Given the description of an element on the screen output the (x, y) to click on. 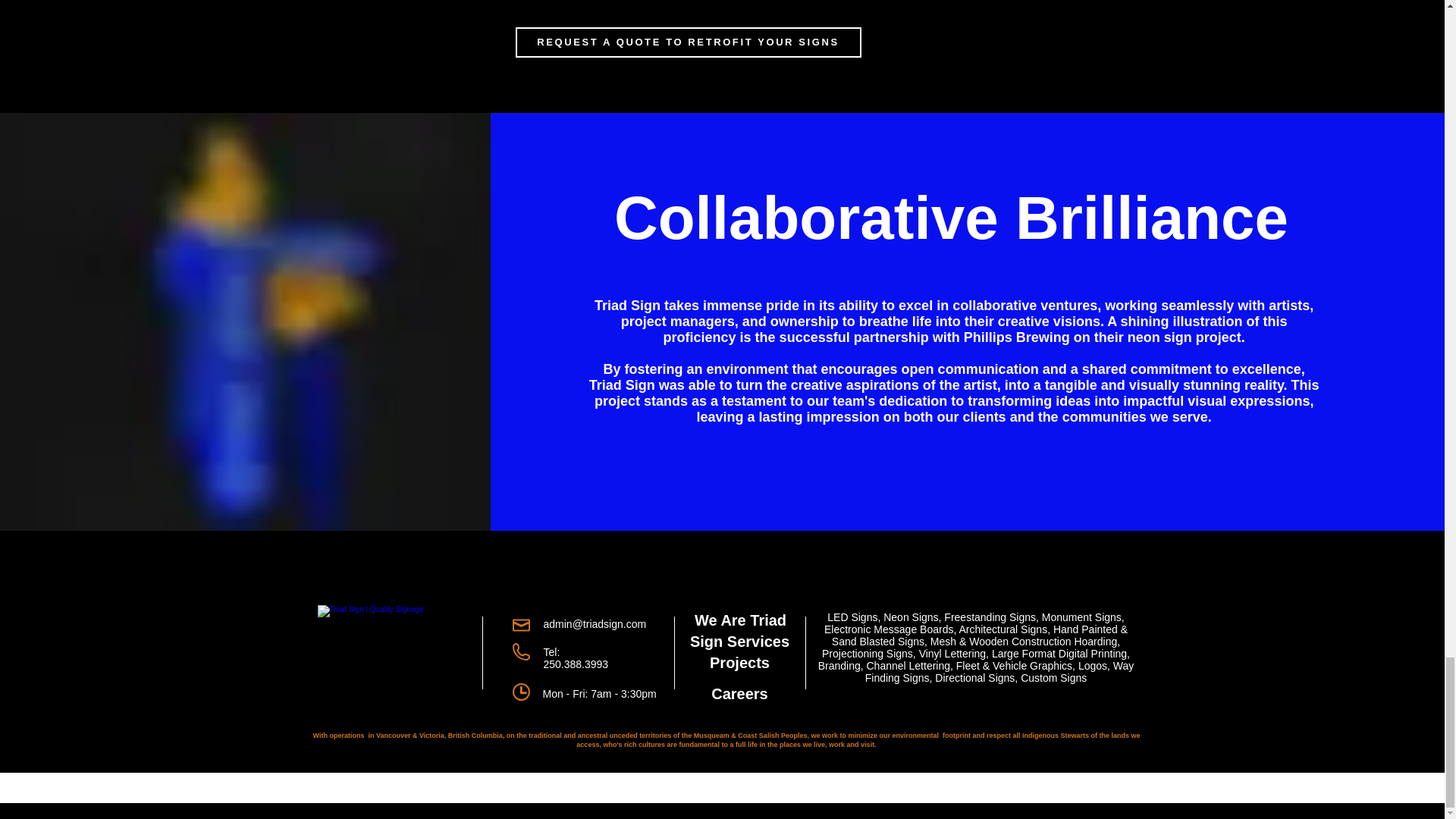
Careers (739, 693)
Projects (740, 662)
REQUEST A QUOTE TO RETROFIT YOUR SIGNS (688, 42)
Sign Services (739, 641)
We Are Triad (740, 619)
Tel: 250.388.3993 (575, 658)
